Given the description of an element on the screen output the (x, y) to click on. 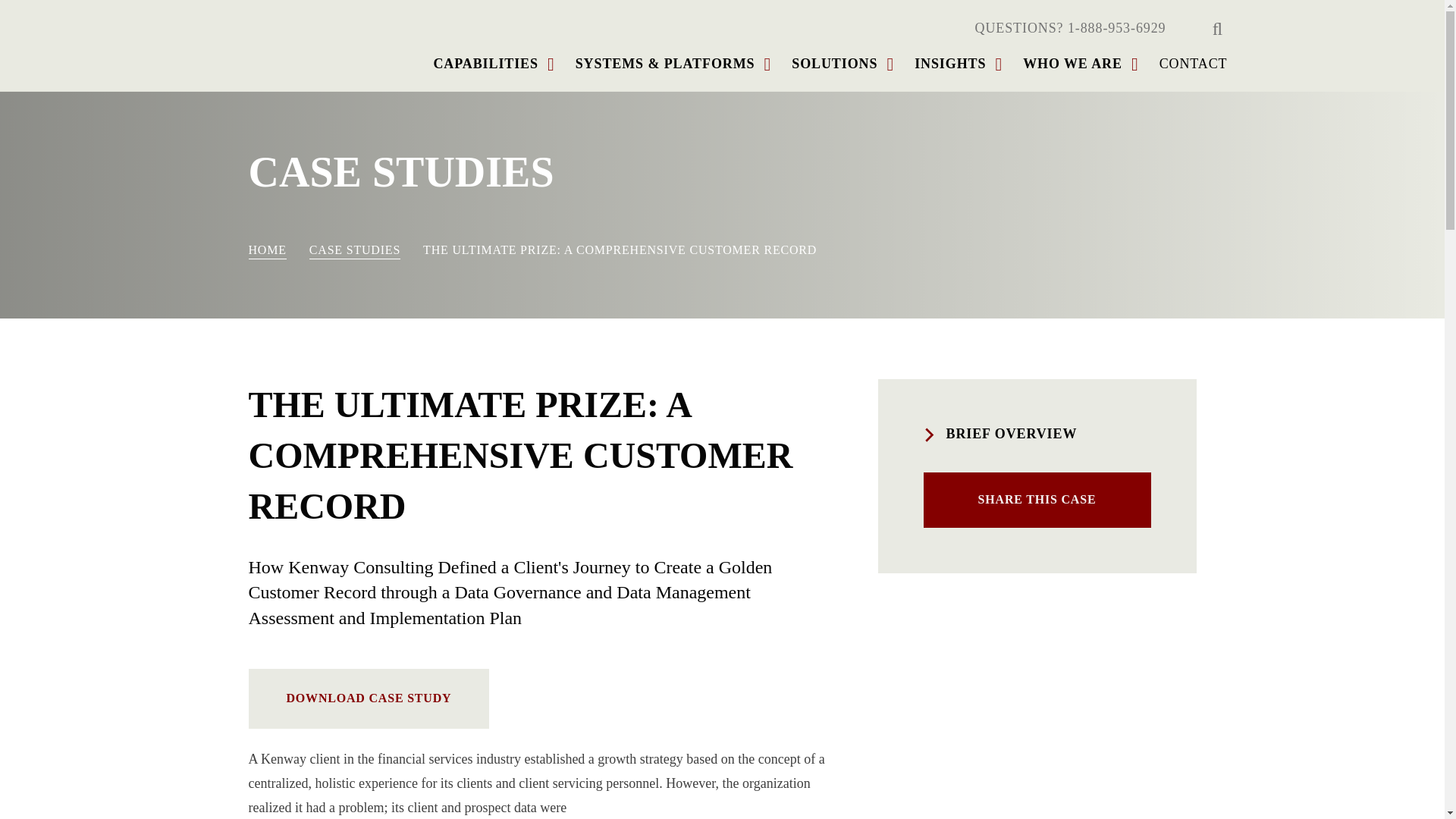
WHO WE ARE (1072, 63)
SOLUTIONS (834, 63)
INSIGHTS (949, 63)
SHARE THIS CASE (1037, 499)
Capabilities (485, 63)
CONTACT (1192, 63)
Solutions (834, 63)
CAPABILITIES (485, 63)
DOWNLOAD CASE STUDY (368, 698)
BRIEF OVERVIEW (1037, 434)
